Given the description of an element on the screen output the (x, y) to click on. 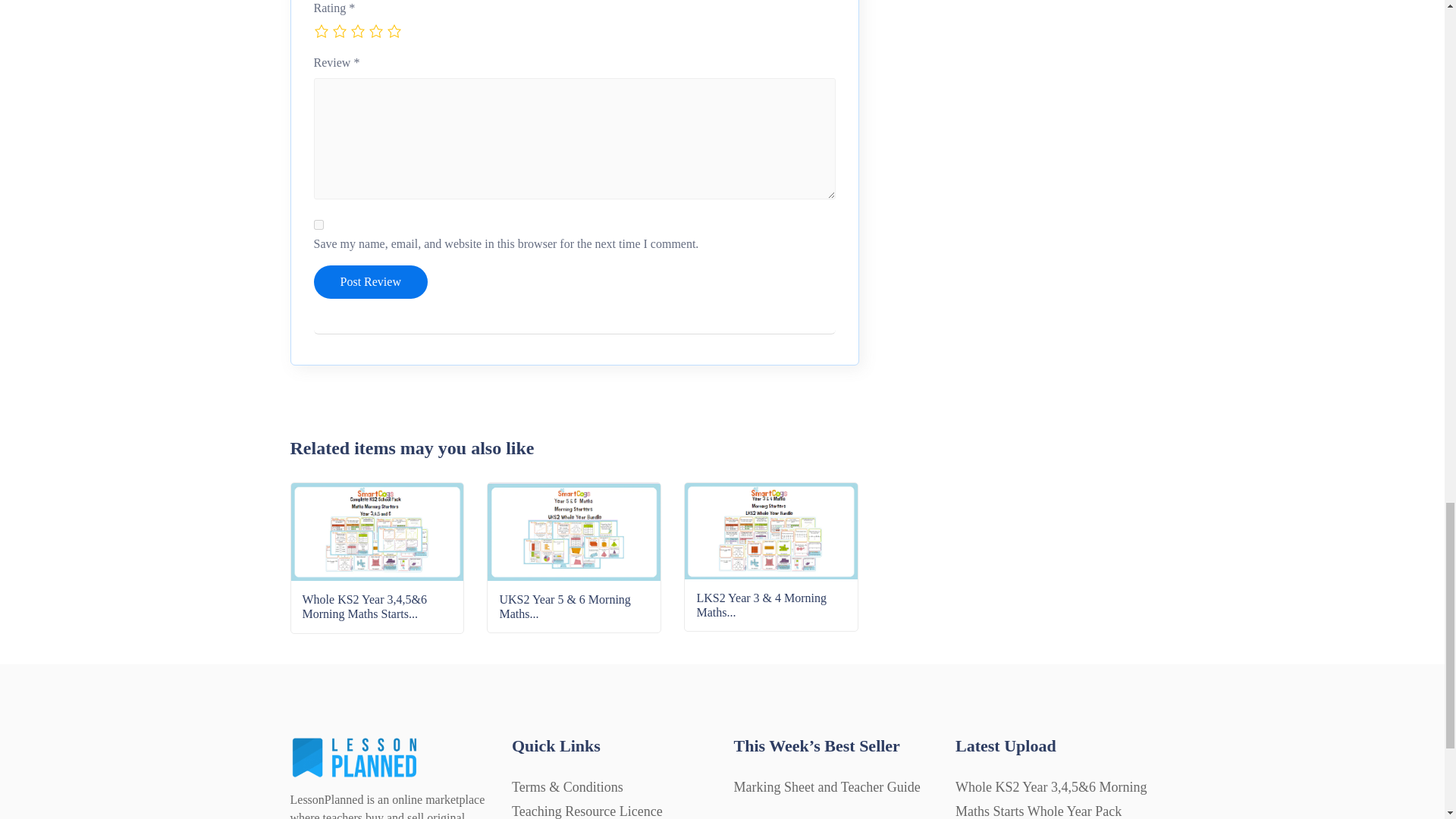
Marking Sheet and Teacher Guide (826, 786)
Post Review (371, 281)
Post Review (371, 281)
yes (318, 225)
